Given the description of an element on the screen output the (x, y) to click on. 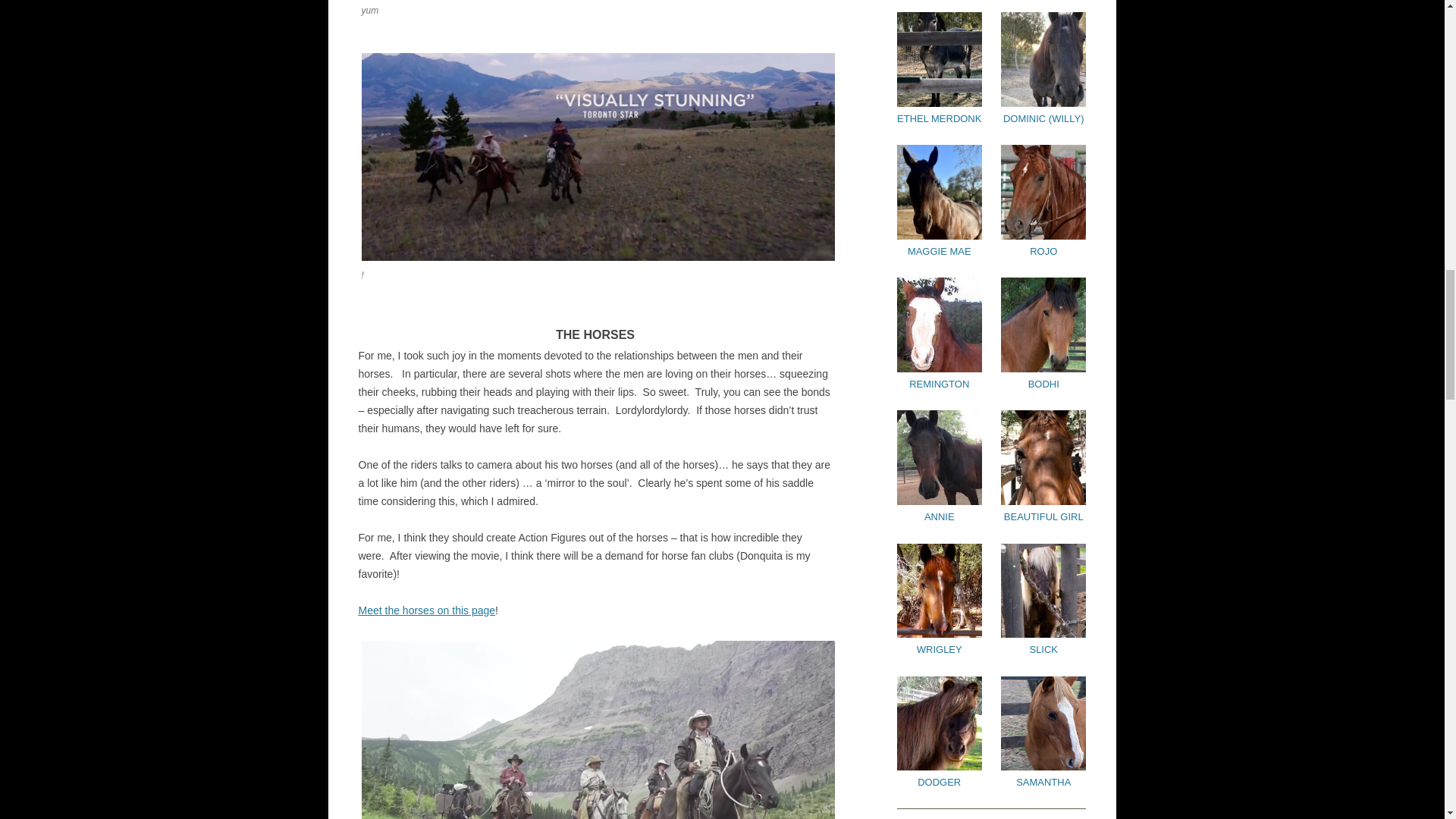
Meet the horses on this page (426, 610)
